Given the description of an element on the screen output the (x, y) to click on. 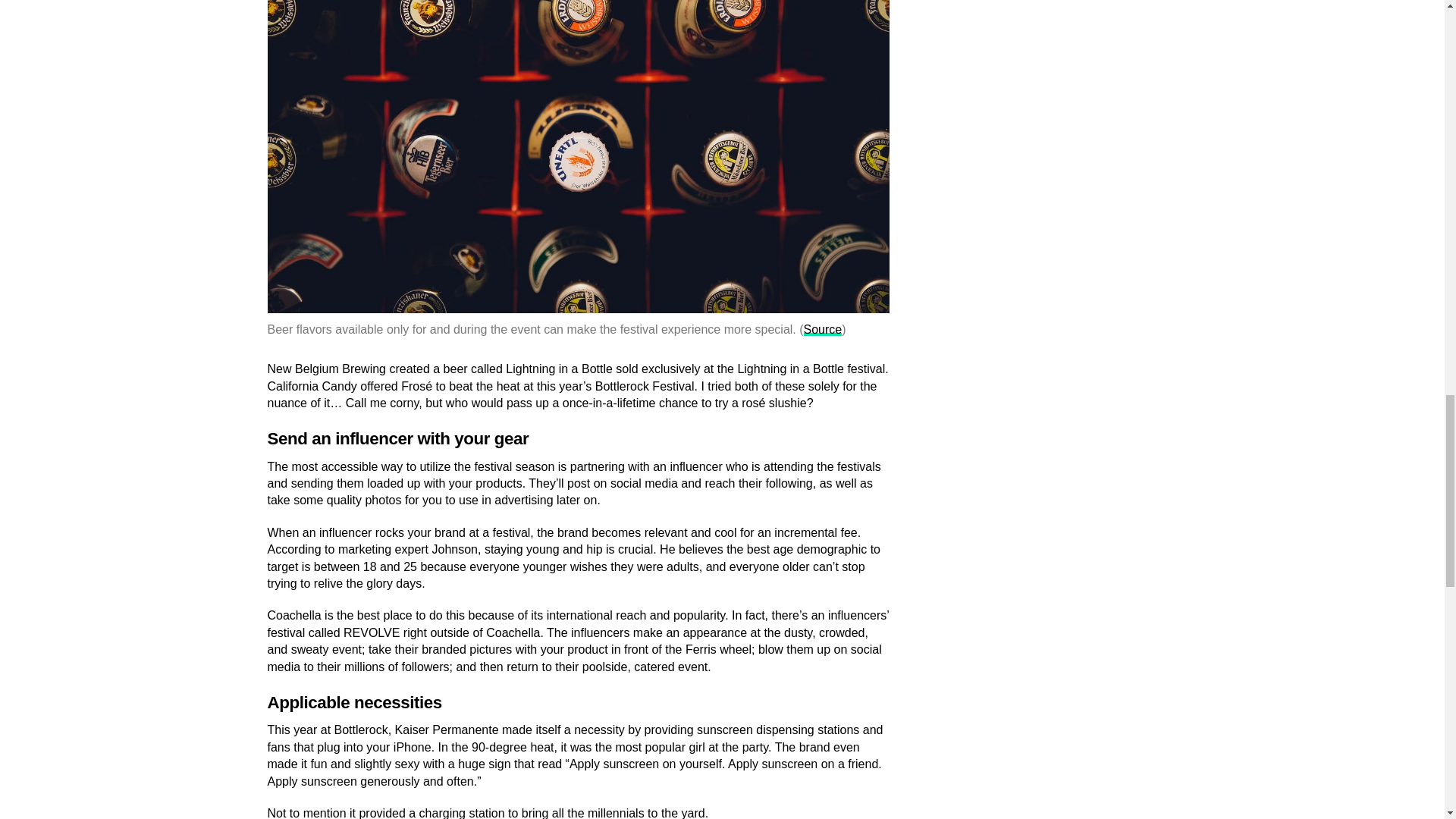
Source (823, 328)
